Given the description of an element on the screen output the (x, y) to click on. 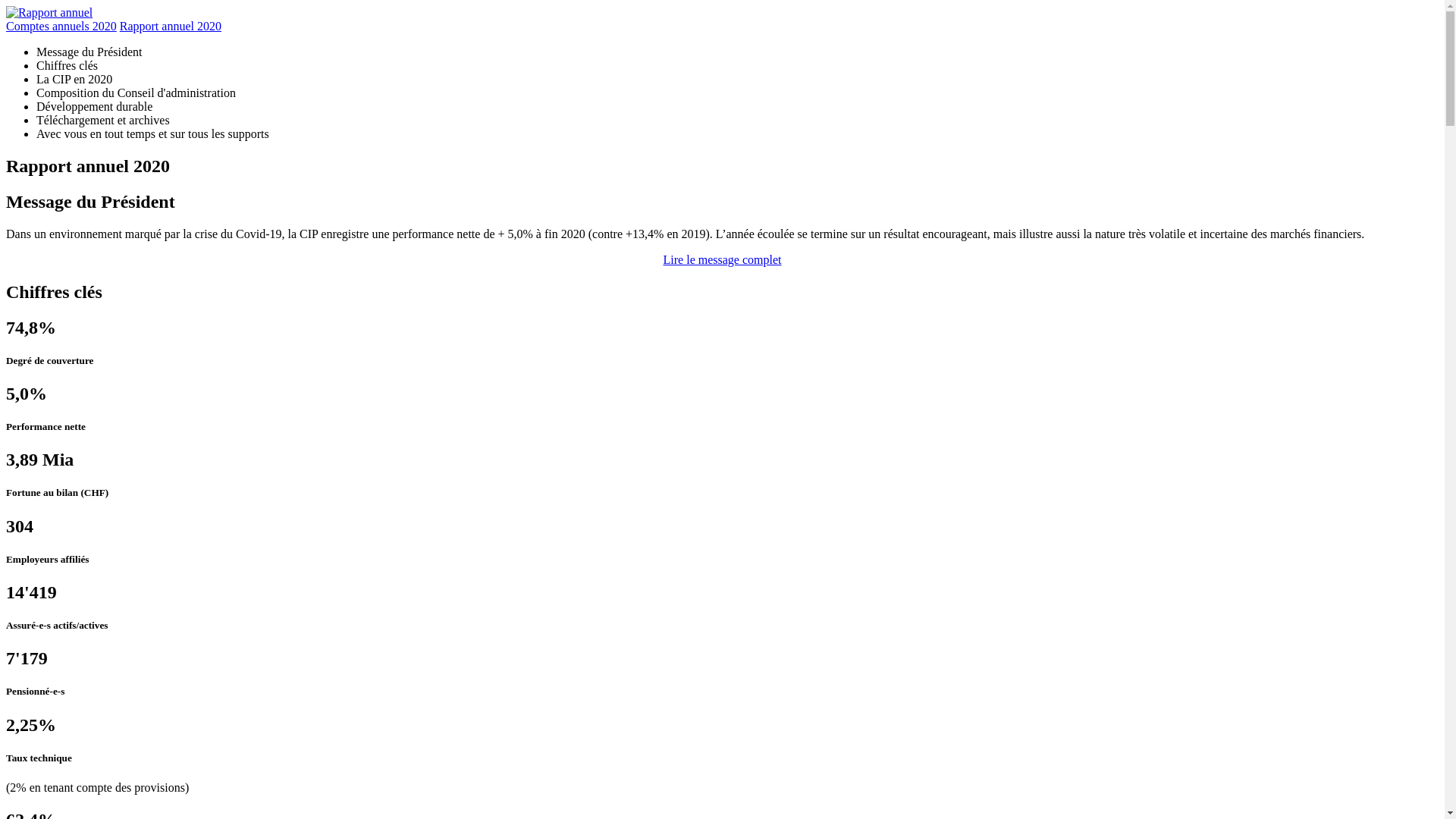
Avec vous en tout temps et sur tous les supports Element type: text (152, 133)
La CIP en 2020 Element type: text (74, 78)
Comptes annuels 2020 Element type: text (61, 25)
Composition du Conseil d'administration Element type: text (135, 92)
Lire le message complet Element type: text (722, 259)
Rapport annuel 2020 Element type: text (170, 25)
